Given the description of an element on the screen output the (x, y) to click on. 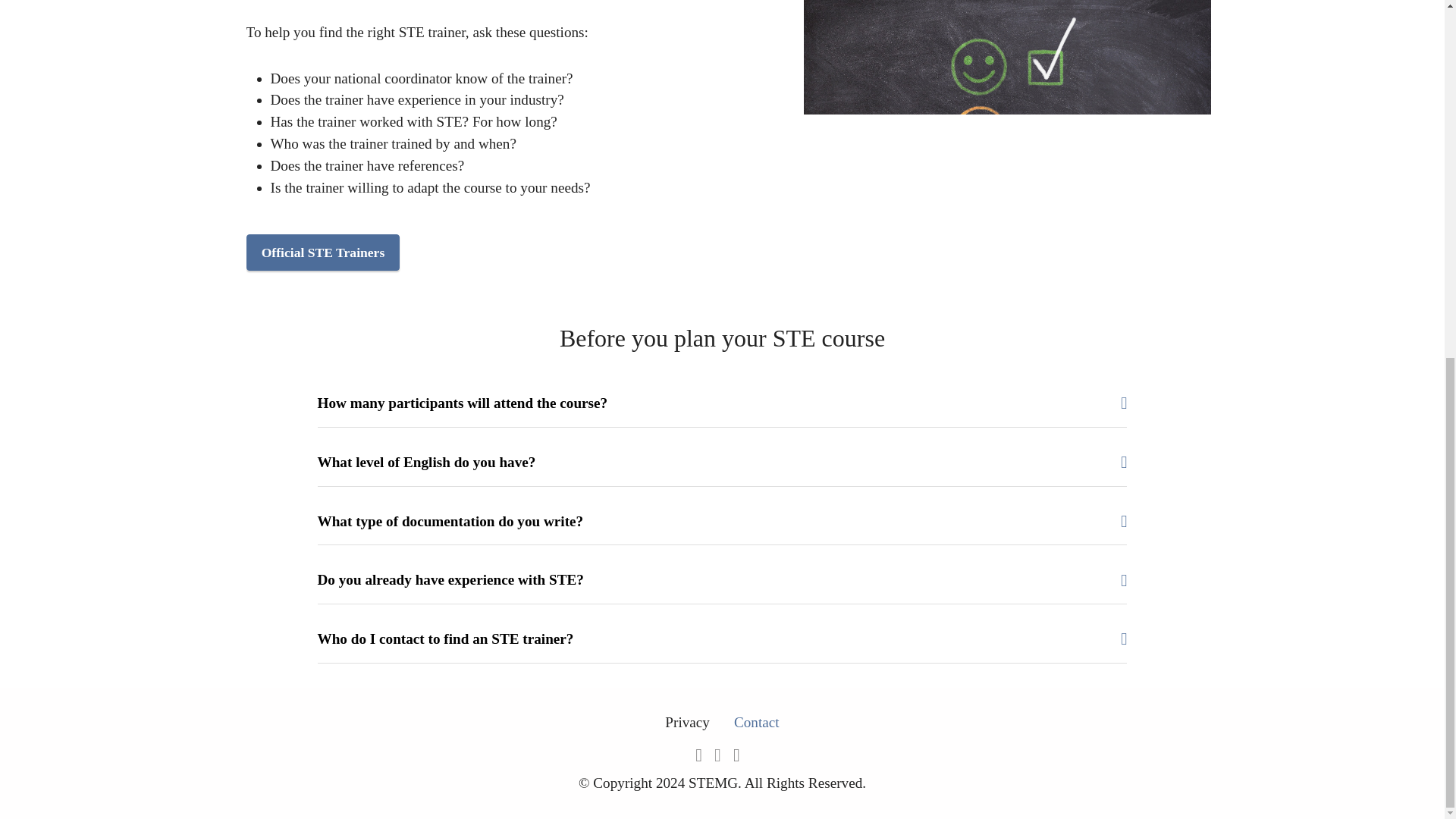
Do you already have experience with STE? (721, 580)
What level of English do you have? (721, 463)
How many participants will attend the course? (721, 403)
What type of documentation do you write? (721, 522)
Privacy (687, 722)
Contact (755, 722)
Who do I contact to find an STE trainer? (721, 639)
Official STE Trainers (322, 252)
